Given the description of an element on the screen output the (x, y) to click on. 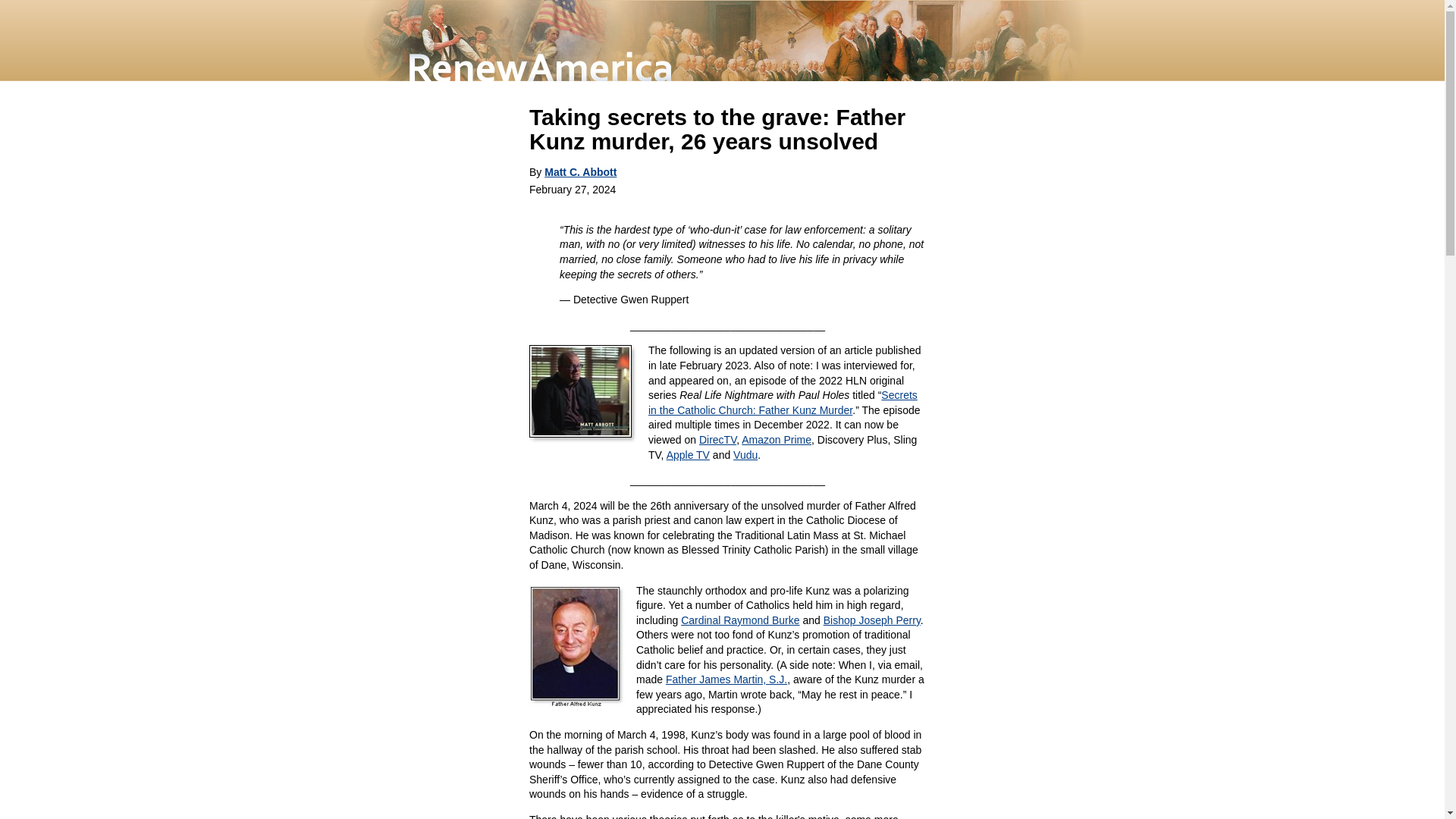
Cardinal Raymond Burke (740, 620)
Amazon Prime (775, 439)
Secrets in the Catholic Church: Father Kunz Murder (782, 402)
Matt C. Abbott (579, 172)
Bishop Joseph Perry (872, 620)
Apple TV (688, 454)
Father James Martin, S.J. (726, 679)
Vudu (745, 454)
DirecTV (717, 439)
